Given the description of an element on the screen output the (x, y) to click on. 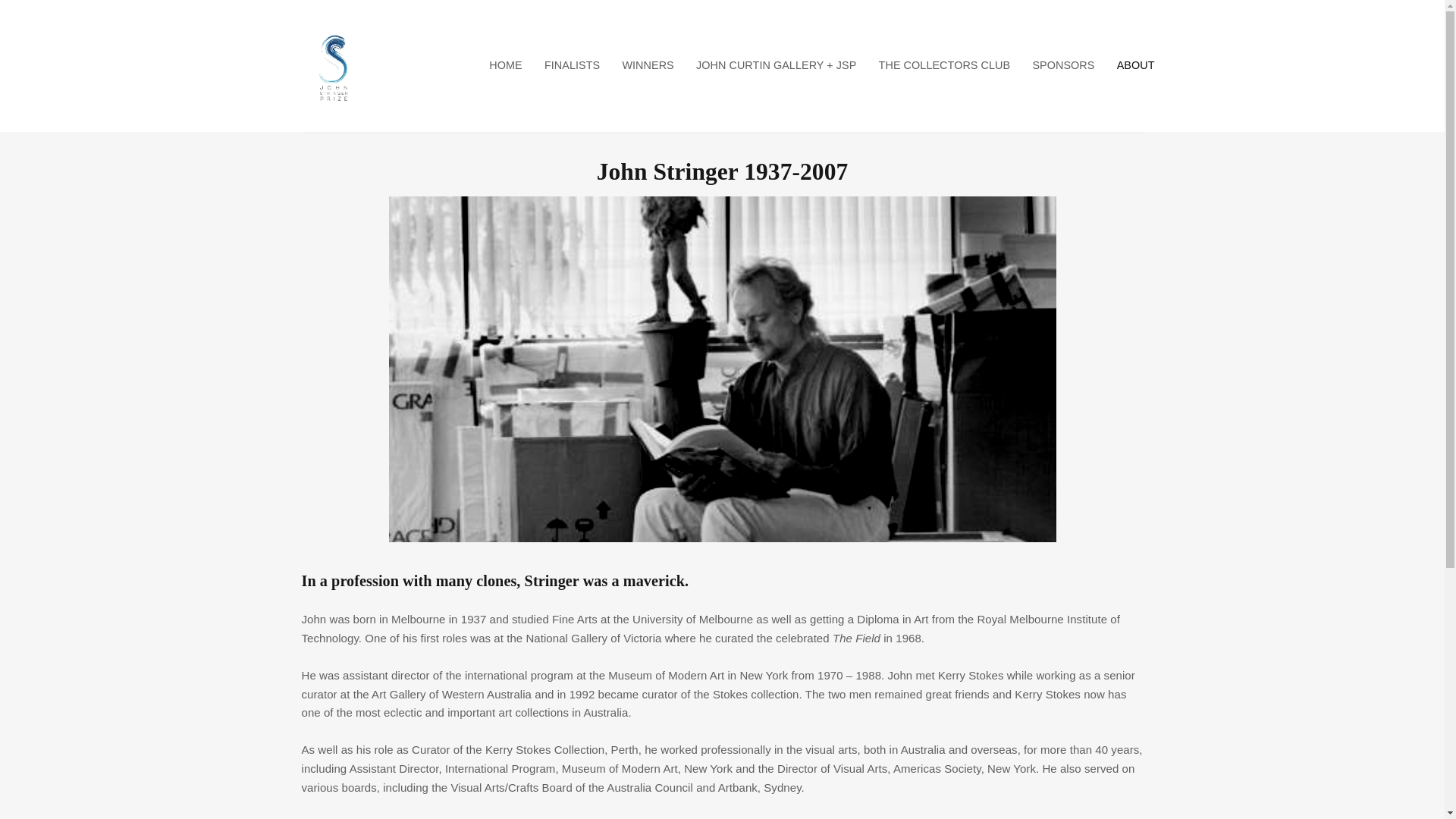
THE COLLECTORS CLUB (944, 65)
ABOUT (1129, 65)
WINNERS (648, 65)
HOME (506, 65)
FINALISTS (571, 65)
SPONSORS (1063, 65)
